Given the description of an element on the screen output the (x, y) to click on. 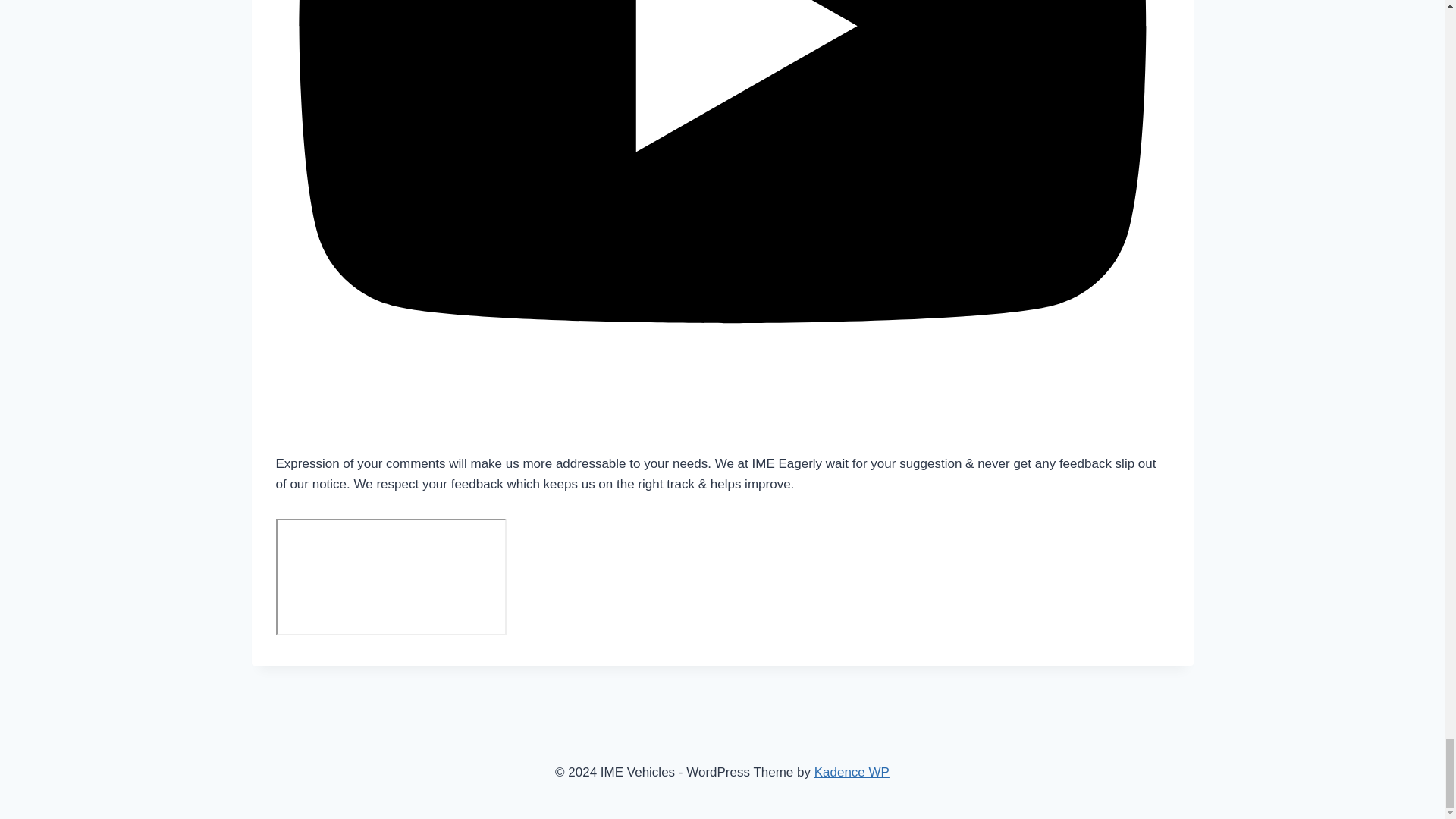
Kadence WP (851, 771)
IME Vehicles Pvt Ltd (391, 576)
